Given the description of an element on the screen output the (x, y) to click on. 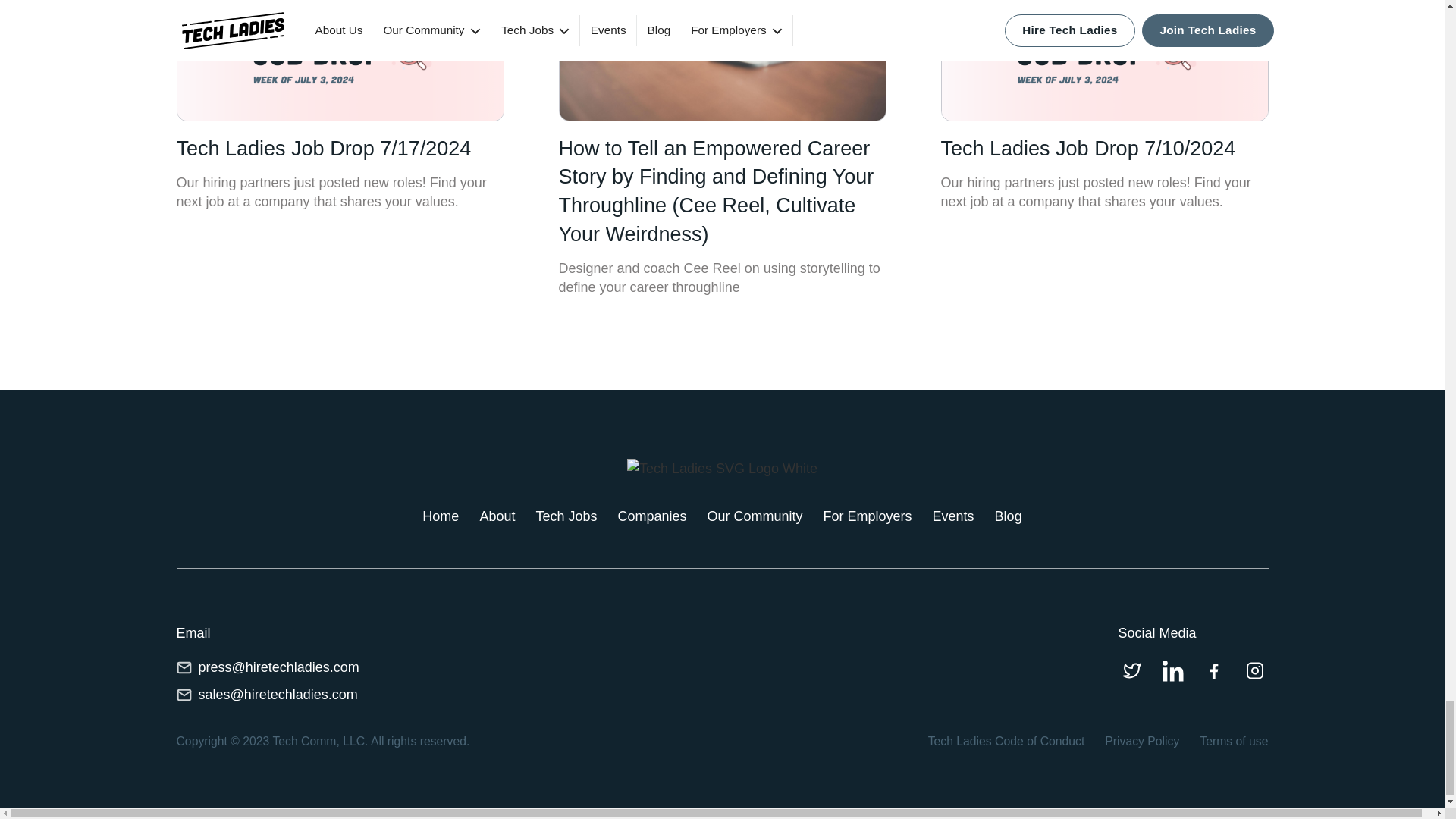
Tech Ladies Facebook (1213, 670)
Tech Ladies Instagram (1253, 670)
Tech Ladies Partnership Inquiry Email (183, 694)
Tech Ladies Press Inquiry Email (183, 667)
Tech Ladies Twitter (1131, 670)
